Given the description of an element on the screen output the (x, y) to click on. 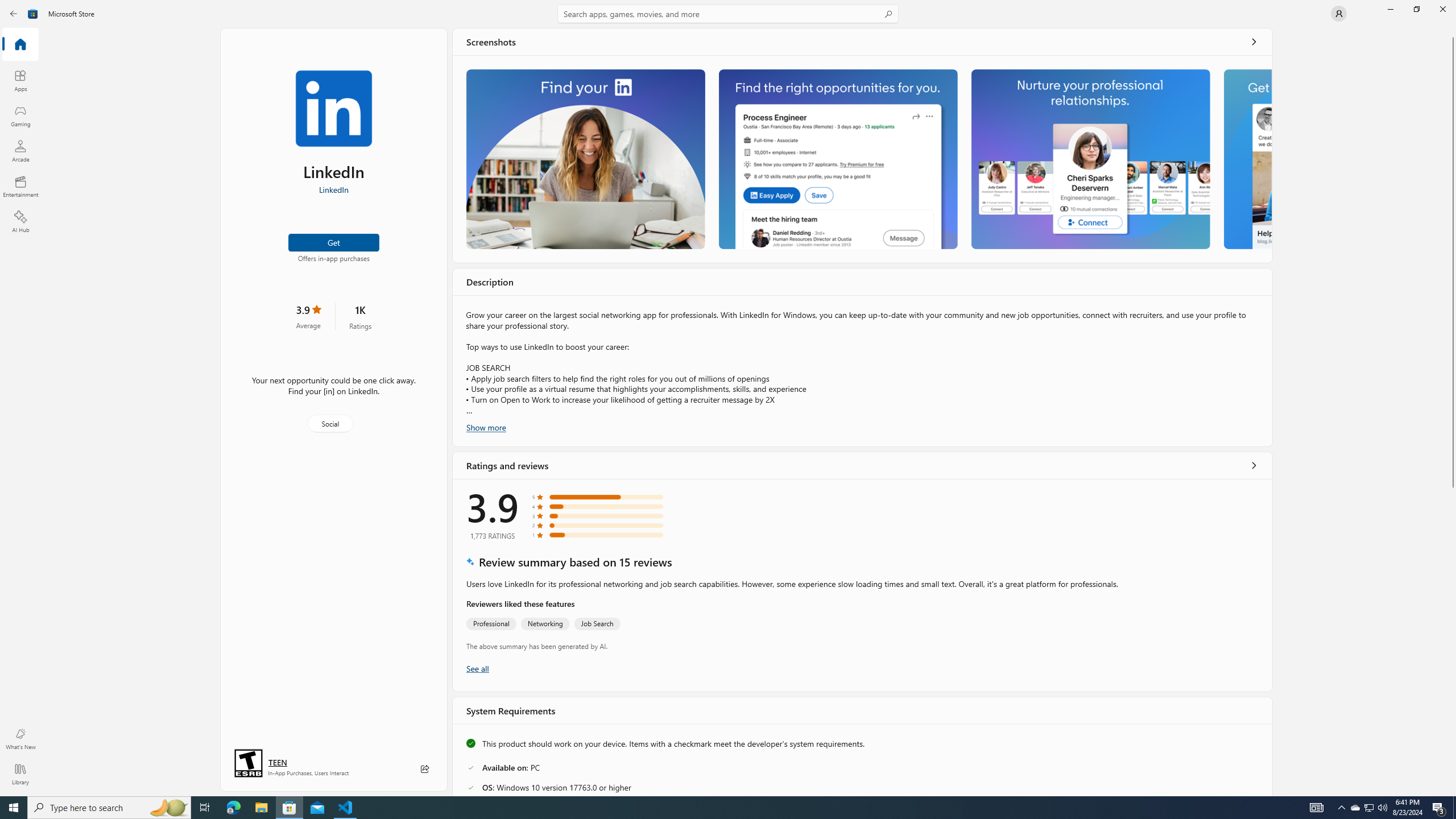
AutomationID: NavigationControl (728, 398)
Library (20, 773)
Search (727, 13)
3.9 stars. Click to skip to ratings and reviews (307, 315)
Screenshot 2 (836, 158)
Arcade (20, 150)
See all (1253, 41)
Show all ratings and reviews (1253, 465)
Screenshot 1 (584, 158)
Share (424, 769)
Class: Image (32, 13)
Social (329, 423)
Show more (485, 426)
Home (20, 45)
AI Hub (20, 221)
